Given the description of an element on the screen output the (x, y) to click on. 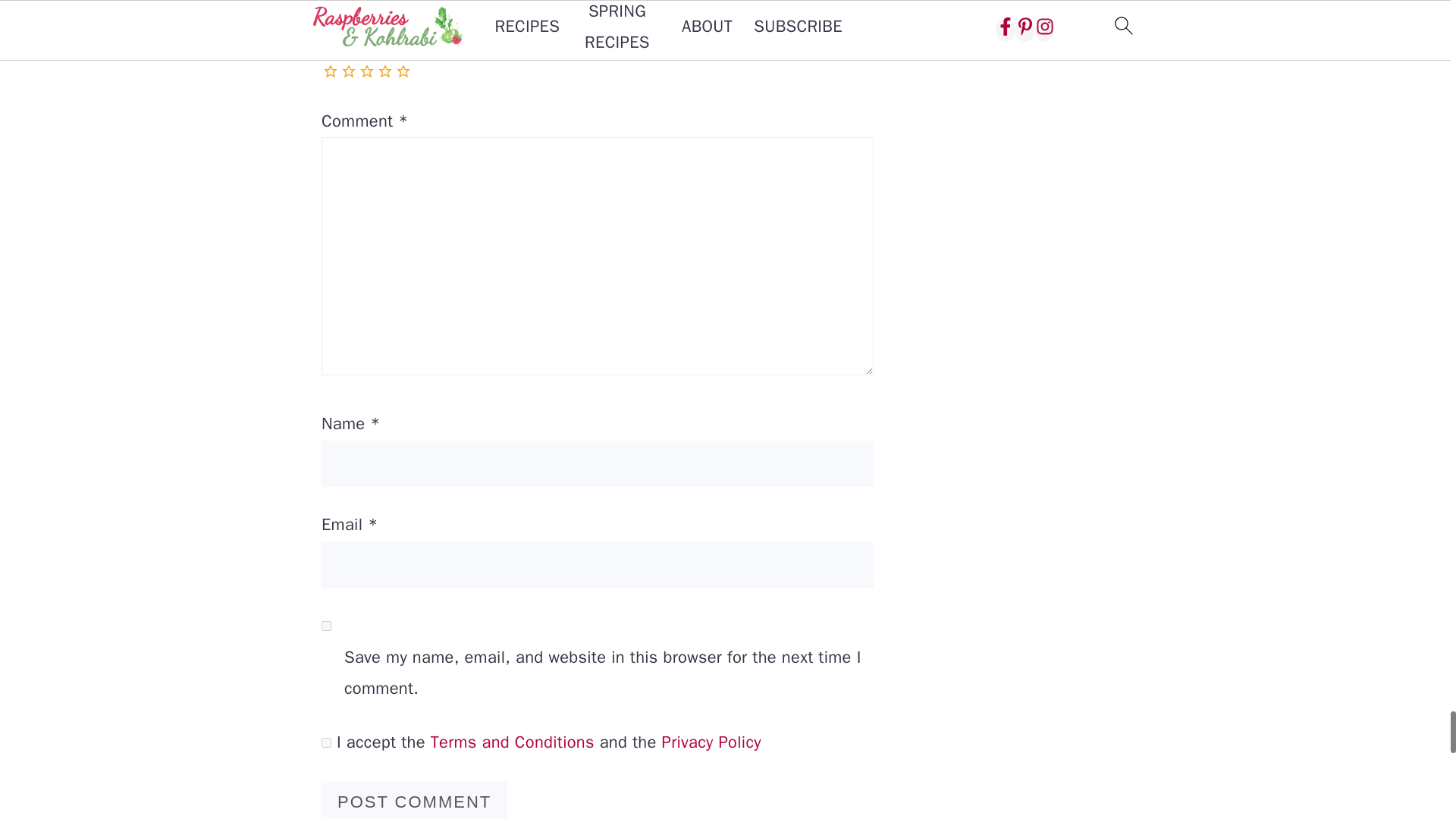
1 (326, 742)
yes (326, 625)
Post Comment (413, 800)
